Given the description of an element on the screen output the (x, y) to click on. 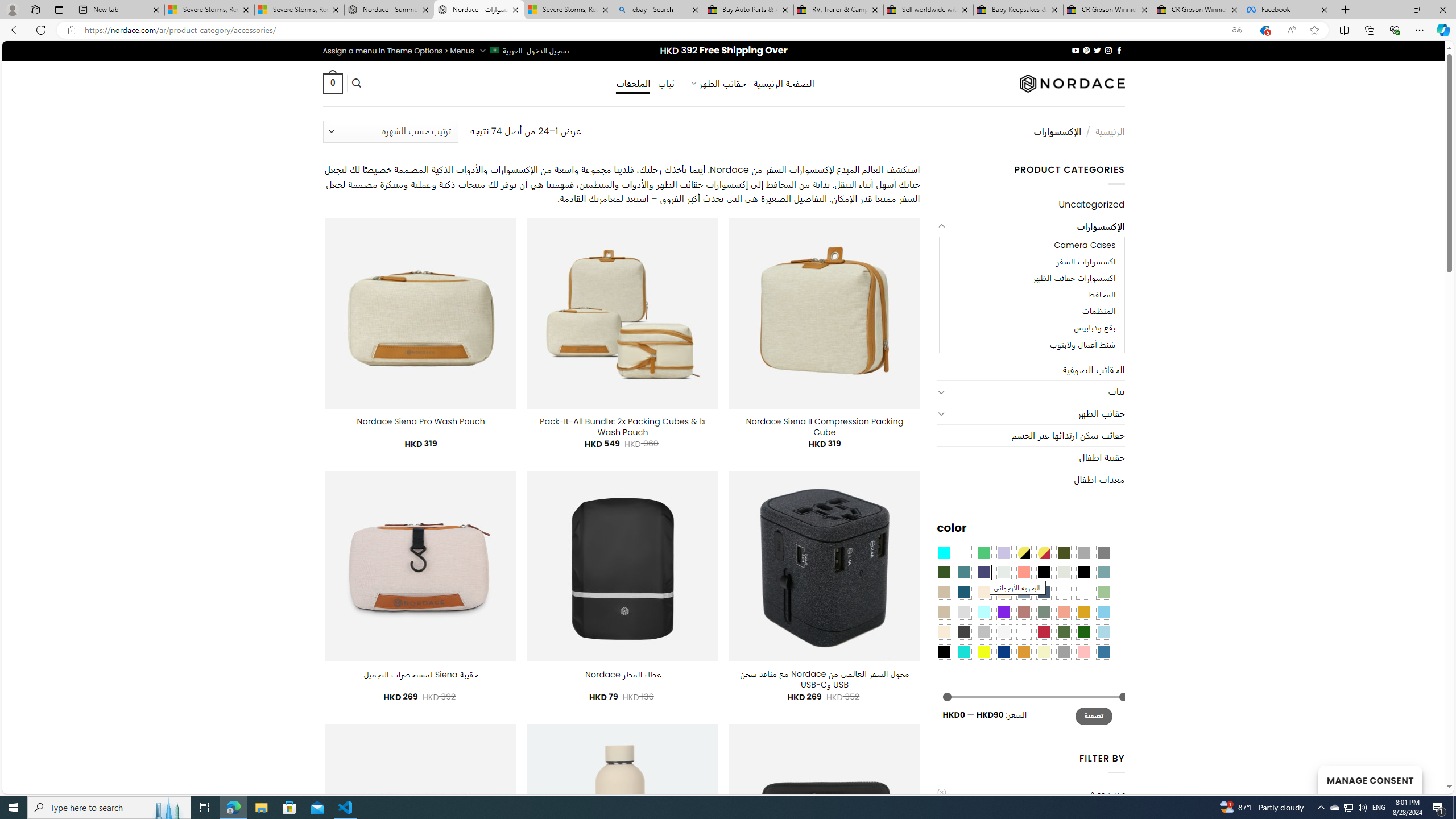
Hale Navy (1043, 591)
Dusty Blue (1023, 591)
Caramel (983, 591)
Cream (1003, 591)
Brownie (944, 591)
